Given the description of an element on the screen output the (x, y) to click on. 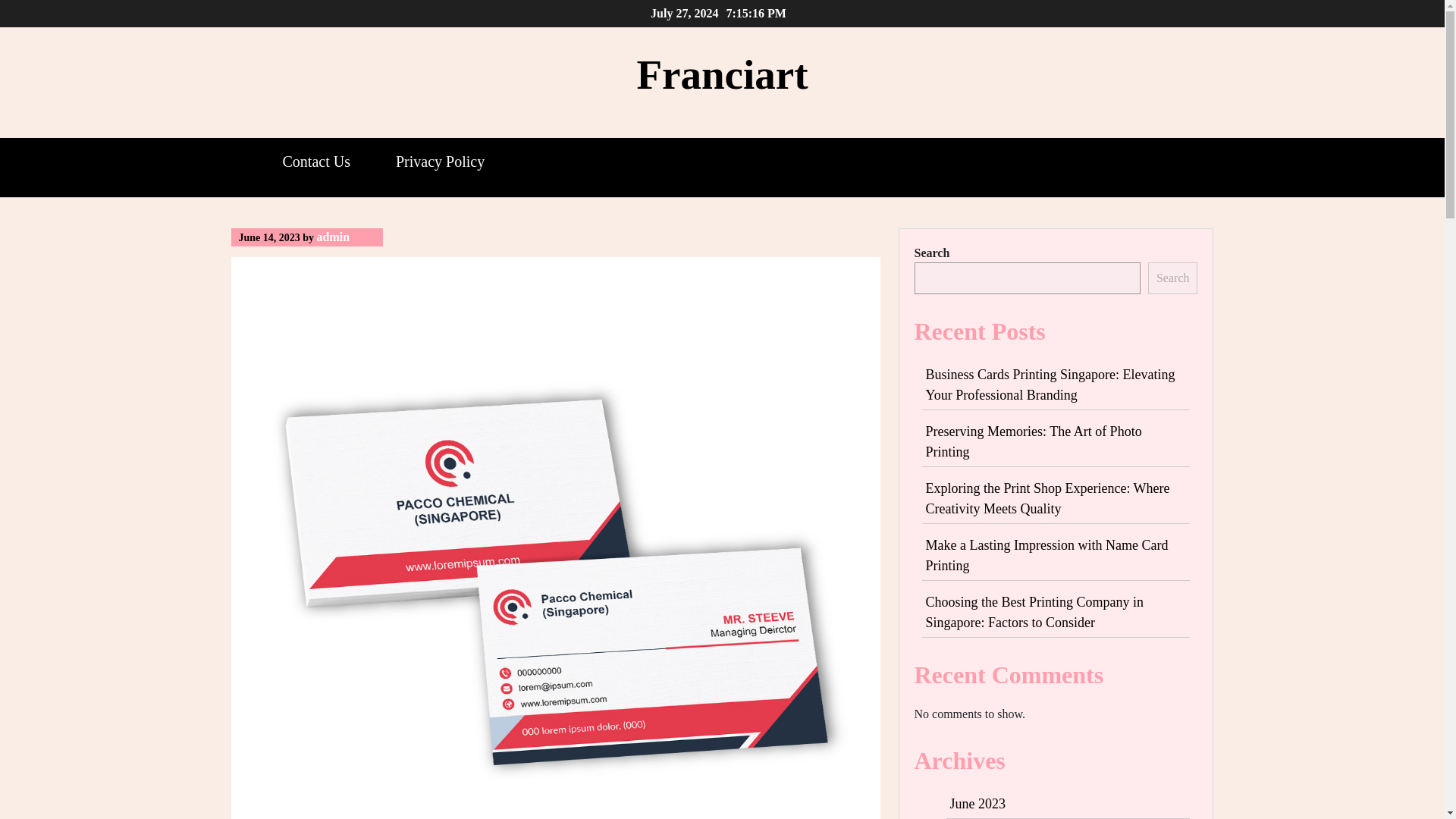
Make a Lasting Impression with Name Card Printing (1045, 555)
Preserving Memories: The Art of Photo Printing (1032, 441)
Contact Us (315, 161)
Posts by admin (333, 236)
admin (333, 236)
Franciart (722, 74)
June 2023 (977, 803)
Search (1173, 278)
Privacy Policy (439, 161)
